Given the description of an element on the screen output the (x, y) to click on. 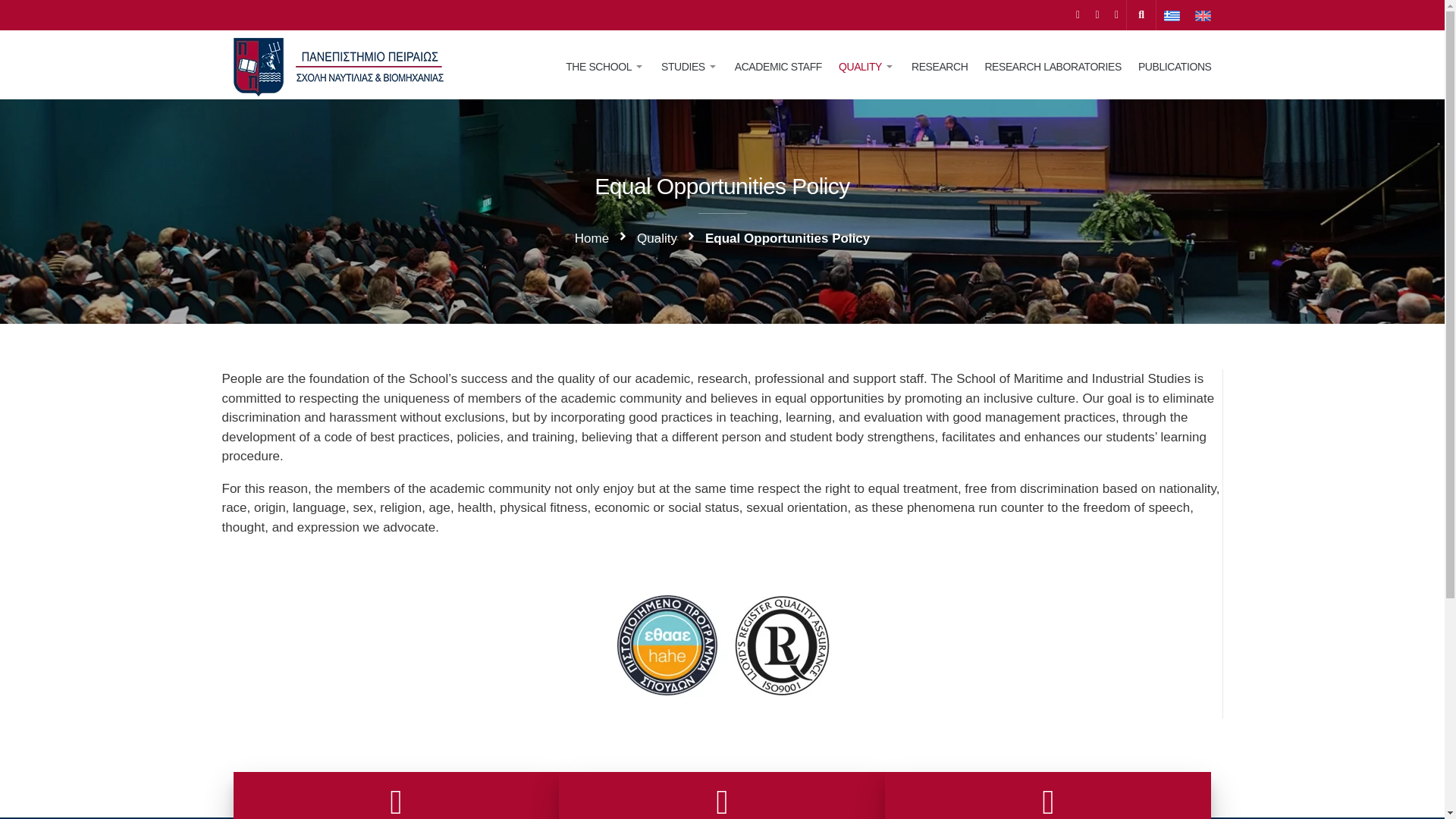
ACADEMIC STAFF (777, 66)
Equal Opportunities Policy (786, 238)
Home (591, 238)
PUBLICATIONS (1170, 66)
Facebook (1077, 14)
QUALITY (865, 66)
Quality (657, 238)
Linkedin (1116, 14)
Home (591, 238)
RESEARCH (938, 66)
THE SCHOOL (604, 66)
Quality (657, 238)
STUDIES (689, 66)
Twitter (1096, 14)
RESEARCH LABORATORIES (1052, 66)
